Given the description of an element on the screen output the (x, y) to click on. 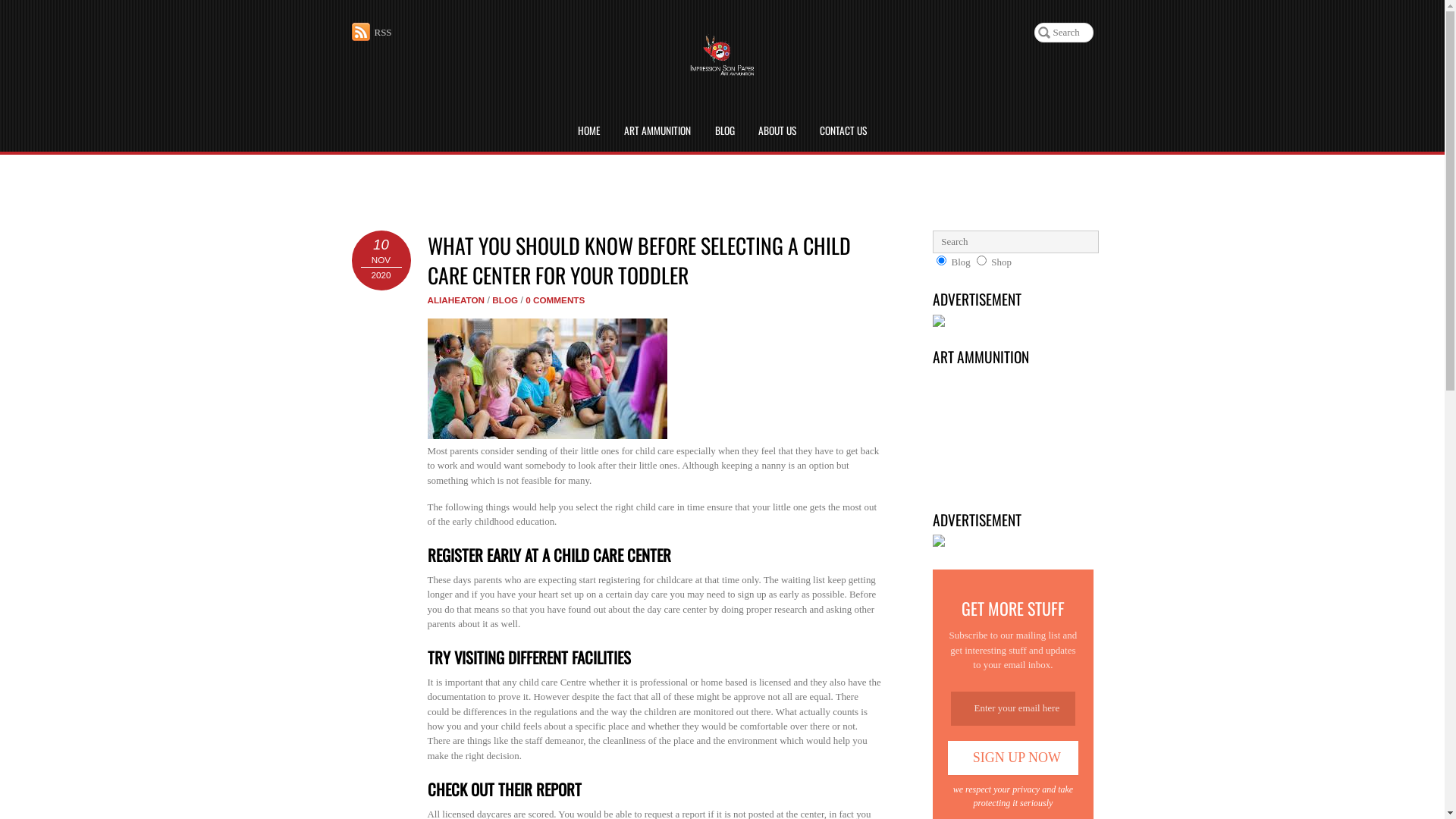
ALIAHEATON Element type: text (456, 299)
Sign Up Now Element type: text (1012, 757)
ABOUT US Element type: text (776, 131)
Impression Son Paper Element type: hover (721, 69)
BLOG Element type: text (723, 131)
Impression Son Paper Element type: hover (721, 57)
RSS Element type: text (371, 31)
HOME Element type: text (589, 131)
ART AMMUNITION Element type: text (657, 131)
0 COMMENTS Element type: text (554, 299)
BLOG Element type: text (504, 299)
CONTACT US Element type: text (843, 131)
